Given the description of an element on the screen output the (x, y) to click on. 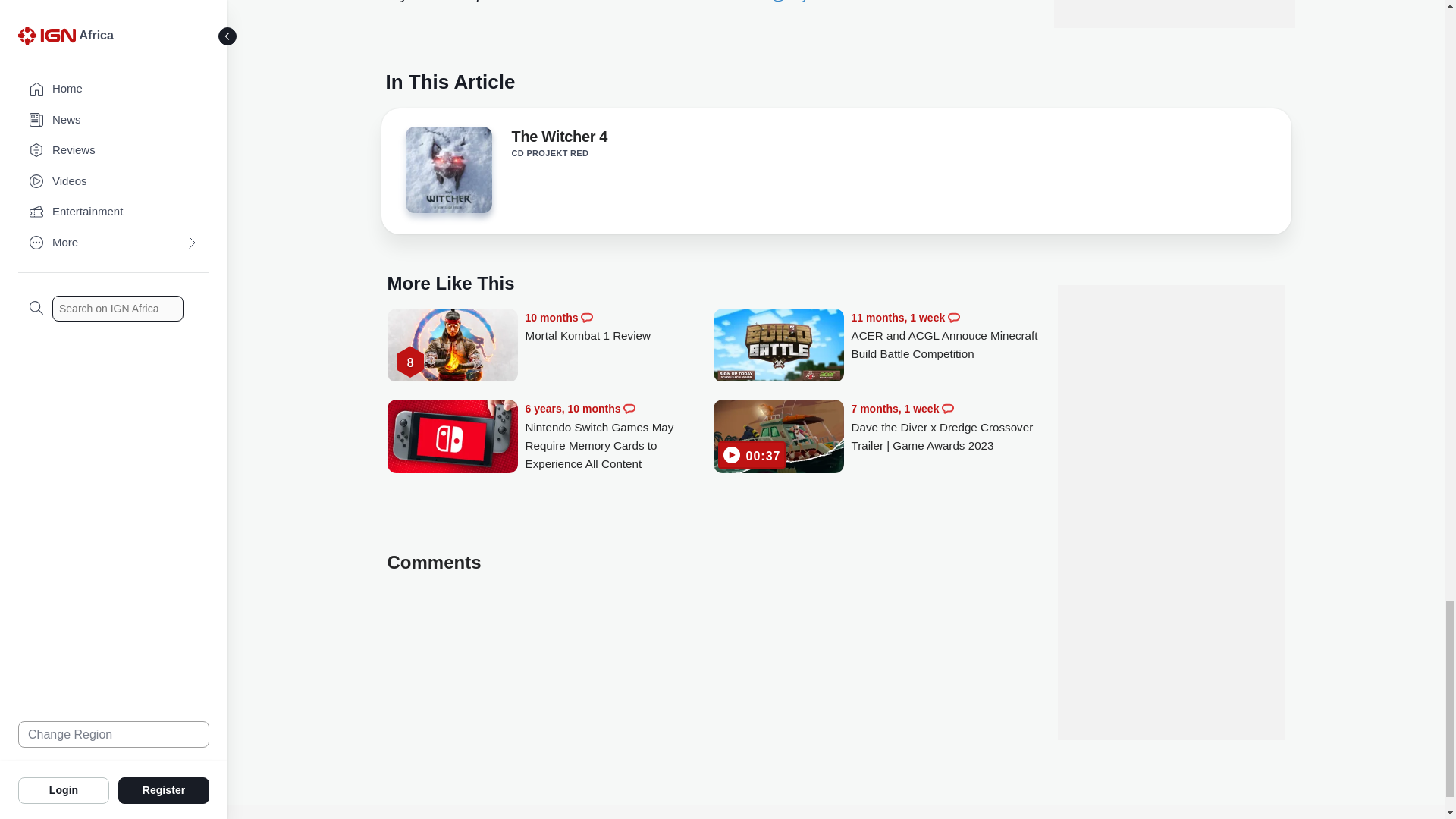
Comments (586, 317)
Mortal Kombat 1 Review (618, 326)
The Witcher 4 (559, 138)
ACER and ACGL Annouce Minecraft Build Battle Competition (778, 346)
The Witcher 4 (448, 174)
Mortal Kombat 1 Review (451, 346)
ACER and ACGL Annouce Minecraft Build Battle Competition (944, 335)
Comments (947, 408)
Comments (953, 317)
The Witcher 4 (448, 169)
Comments (628, 408)
